Given the description of an element on the screen output the (x, y) to click on. 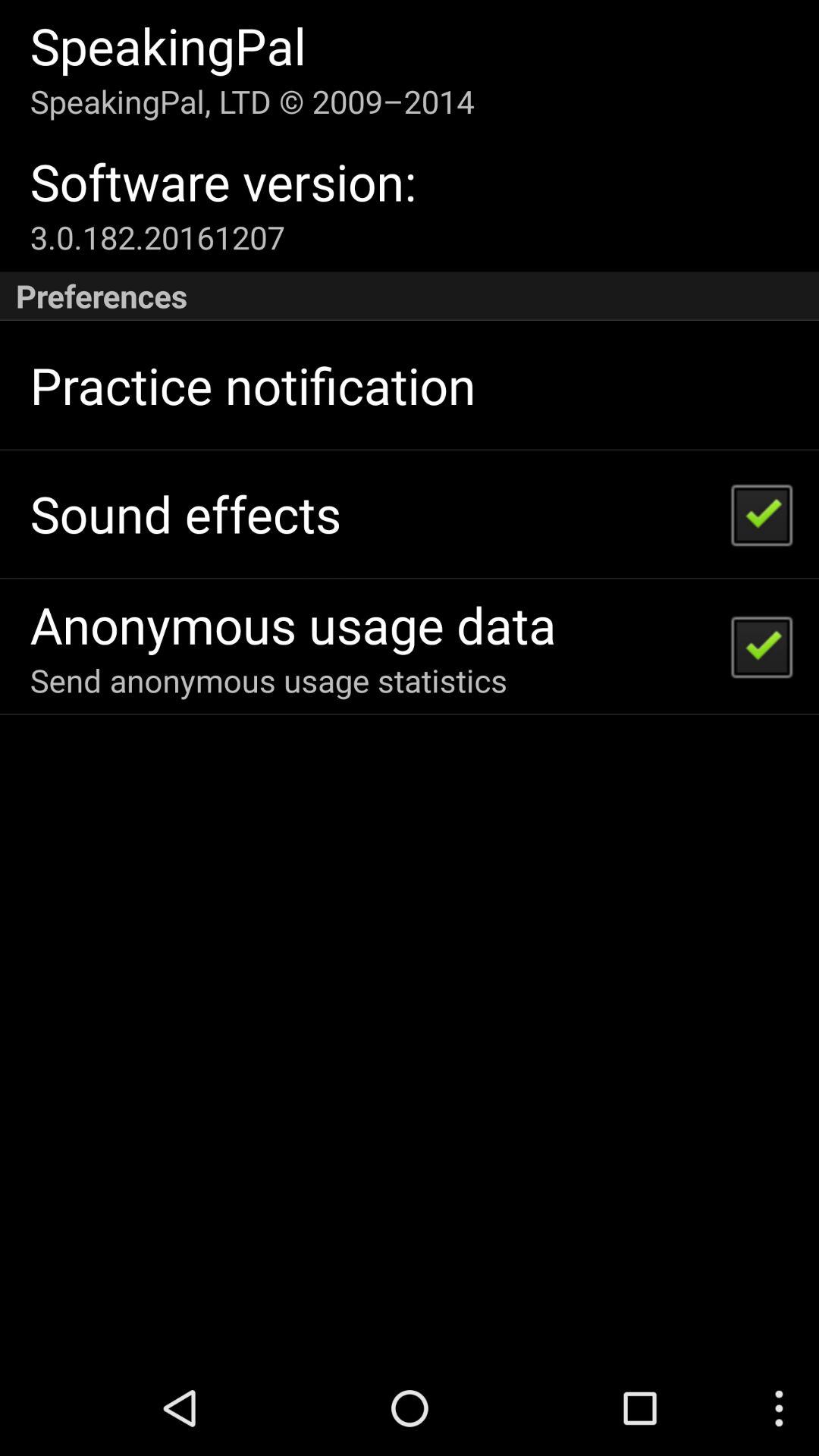
open app below the speakingpal ltd 2009 item (223, 181)
